Given the description of an element on the screen output the (x, y) to click on. 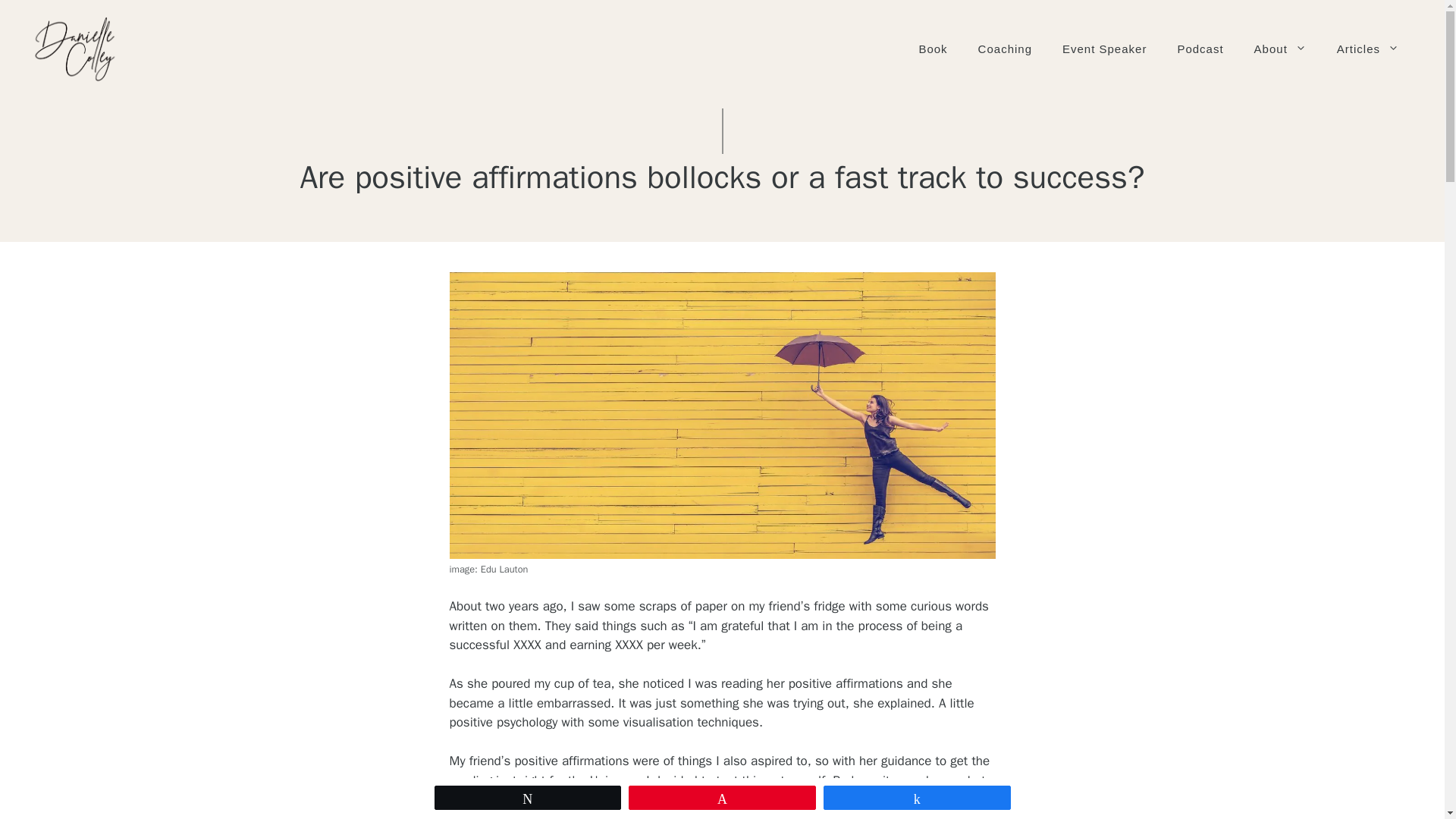
Podcast (1200, 49)
Coaching (1004, 49)
About (1280, 49)
Book (932, 49)
Articles (1367, 49)
Event Speaker (1103, 49)
